Given the description of an element on the screen output the (x, y) to click on. 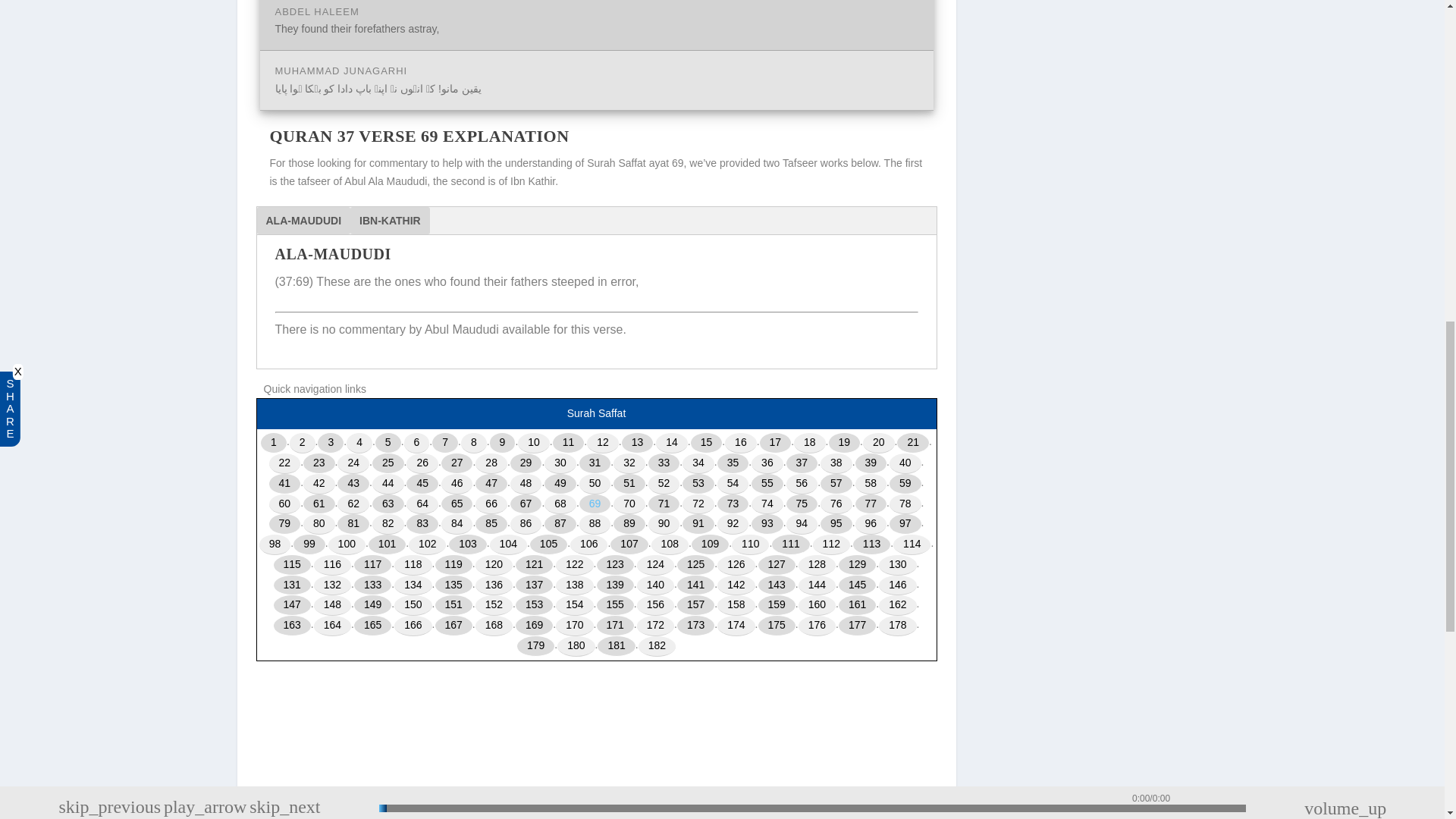
5 (388, 443)
ALA-MAUDUDI (303, 220)
8 (473, 443)
IBN-KATHIR (389, 220)
9 (502, 443)
6 (416, 443)
4 (359, 443)
10 (534, 443)
2 (302, 443)
3 (330, 443)
